Given the description of an element on the screen output the (x, y) to click on. 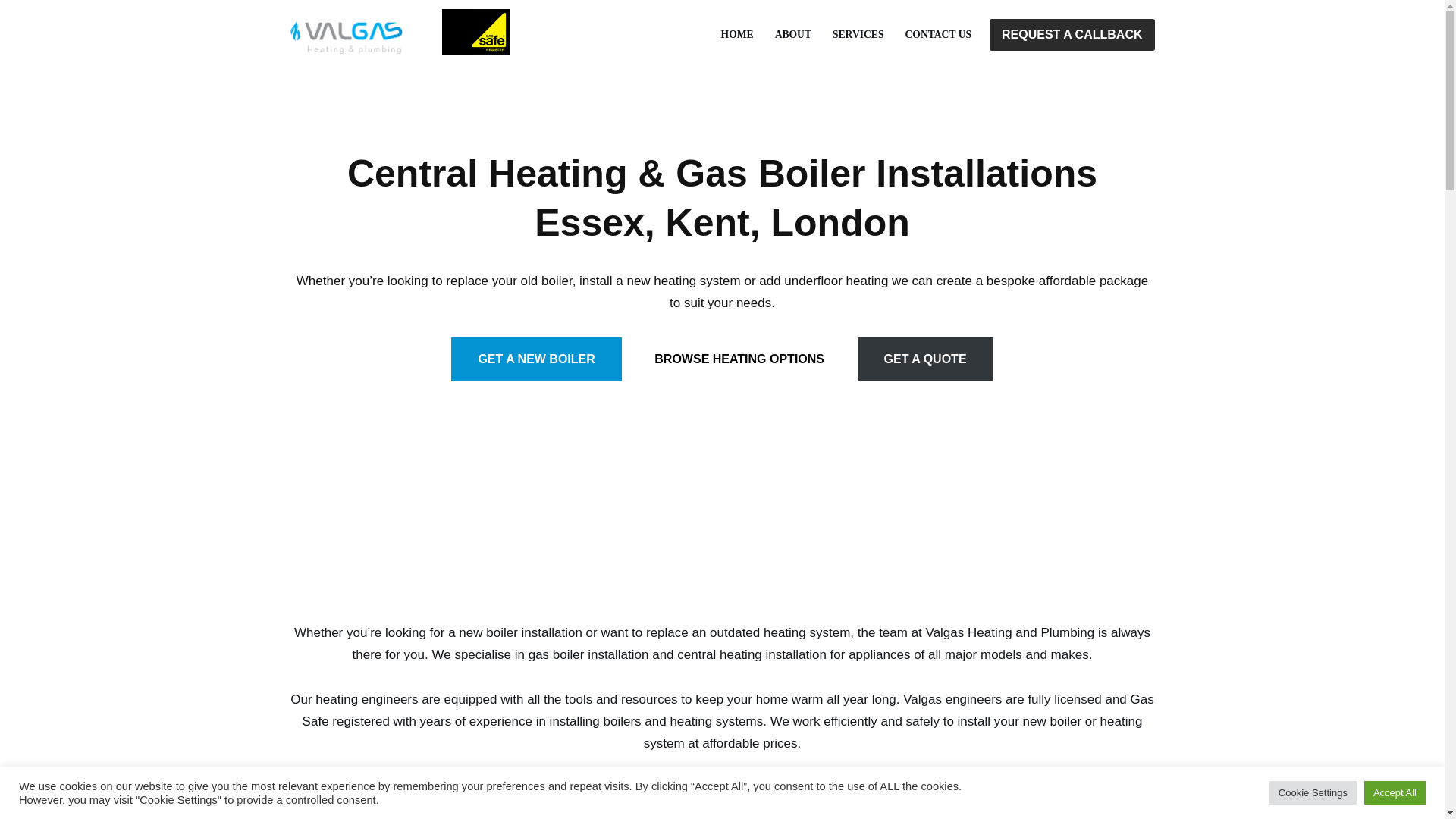
Accept All (1394, 792)
Skip to content (11, 31)
ABOUT (792, 34)
HOME (737, 34)
CONTACT US (938, 34)
Cookie Settings (1312, 792)
BROWSE HEATING OPTIONS (738, 359)
SERVICES (857, 34)
GET A NEW BOILER (536, 359)
GET A QUOTE (924, 359)
